Given the description of an element on the screen output the (x, y) to click on. 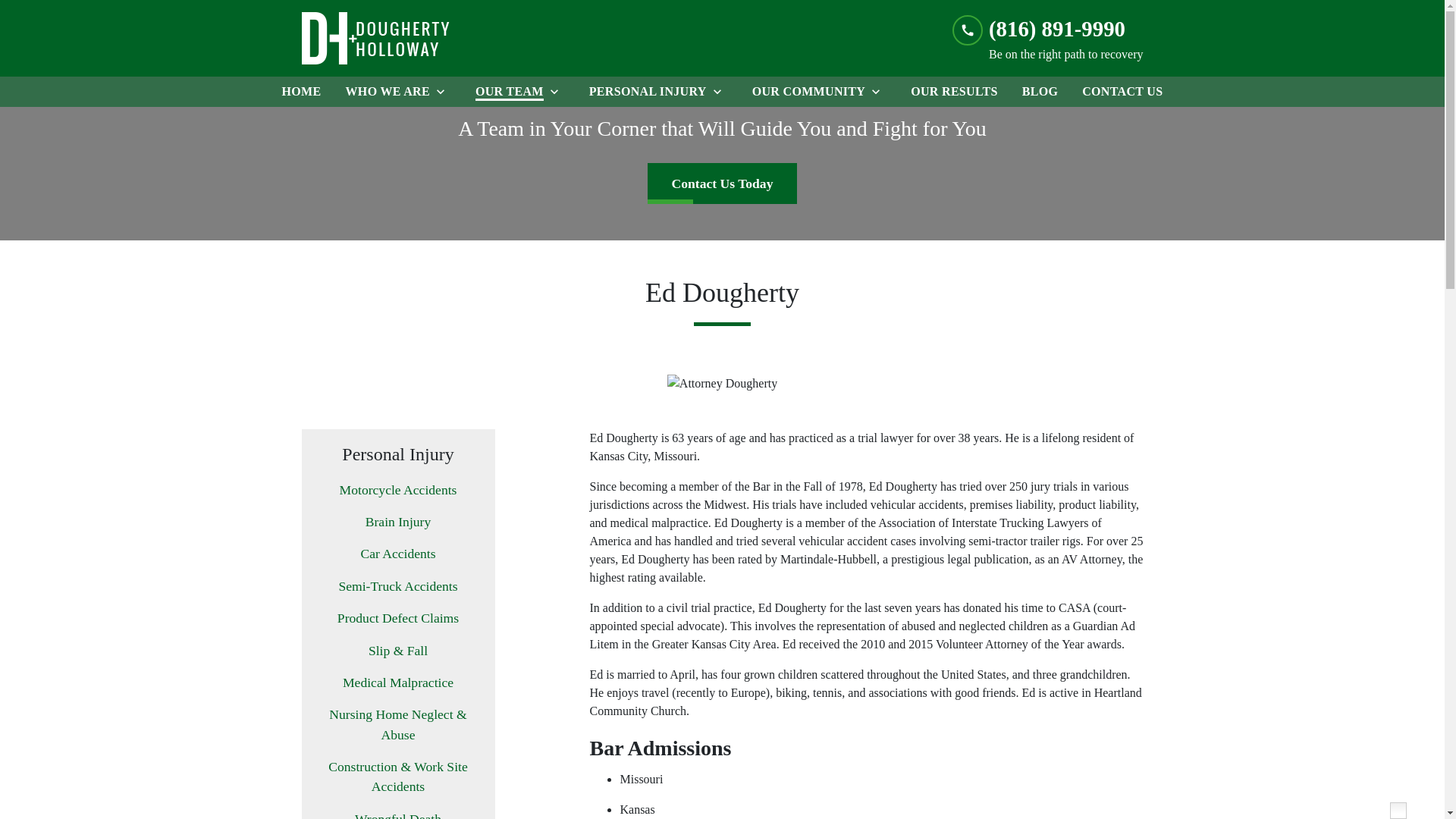
Motorcycle Accidents (397, 489)
WHO WE ARE (384, 91)
PERSONAL INJURY (644, 91)
OUR TEAM (505, 91)
Car Accidents (397, 553)
OUR COMMUNITY (804, 91)
Contact Us Today (722, 182)
OUR RESULTS (954, 91)
Semi-Truck Accidents (397, 586)
CONTACT US (1122, 91)
HOME (301, 91)
BLOG (1040, 91)
Brain Injury (397, 521)
